Given the description of an element on the screen output the (x, y) to click on. 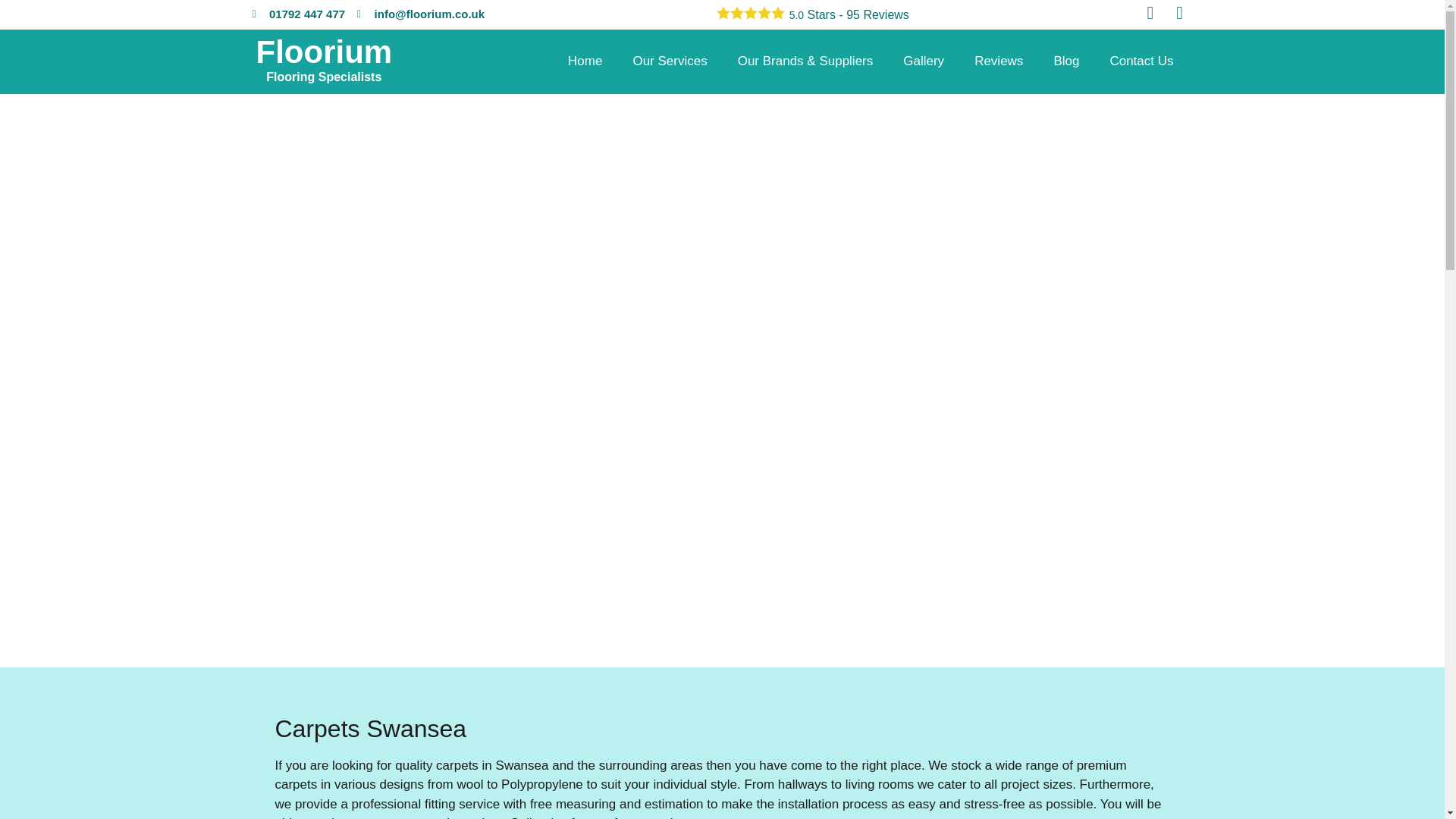
Home (585, 61)
01792 447 477 (298, 14)
Gallery (324, 60)
Blog (923, 61)
Contact Us (1066, 61)
Reviews (1141, 61)
Our Services (998, 61)
